Given the description of an element on the screen output the (x, y) to click on. 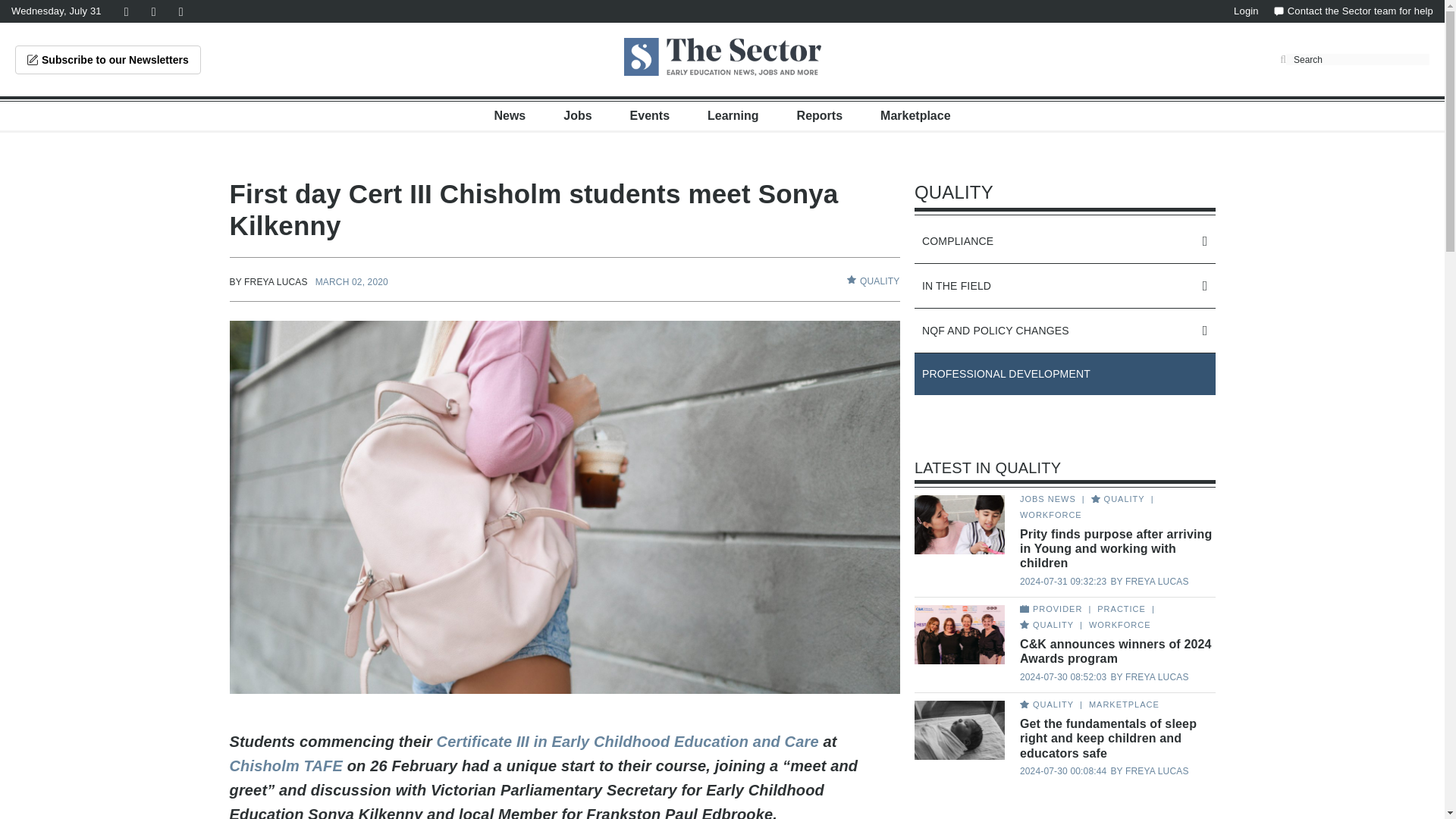
Contact the Sector team for help (1353, 11)
Events (649, 115)
SHAPE COPY 5 CREATED WITH SKETCH. (851, 279)
Login (1246, 11)
Jobs (577, 115)
Marketplace (915, 115)
SHAPE COPY 5 CREATED WITH SKETCH. QUALITY (873, 280)
Certificate III in Early Childhood Education and Care (627, 741)
Reports (819, 115)
Subscribe to our Newsletters (107, 59)
